Given the description of an element on the screen output the (x, y) to click on. 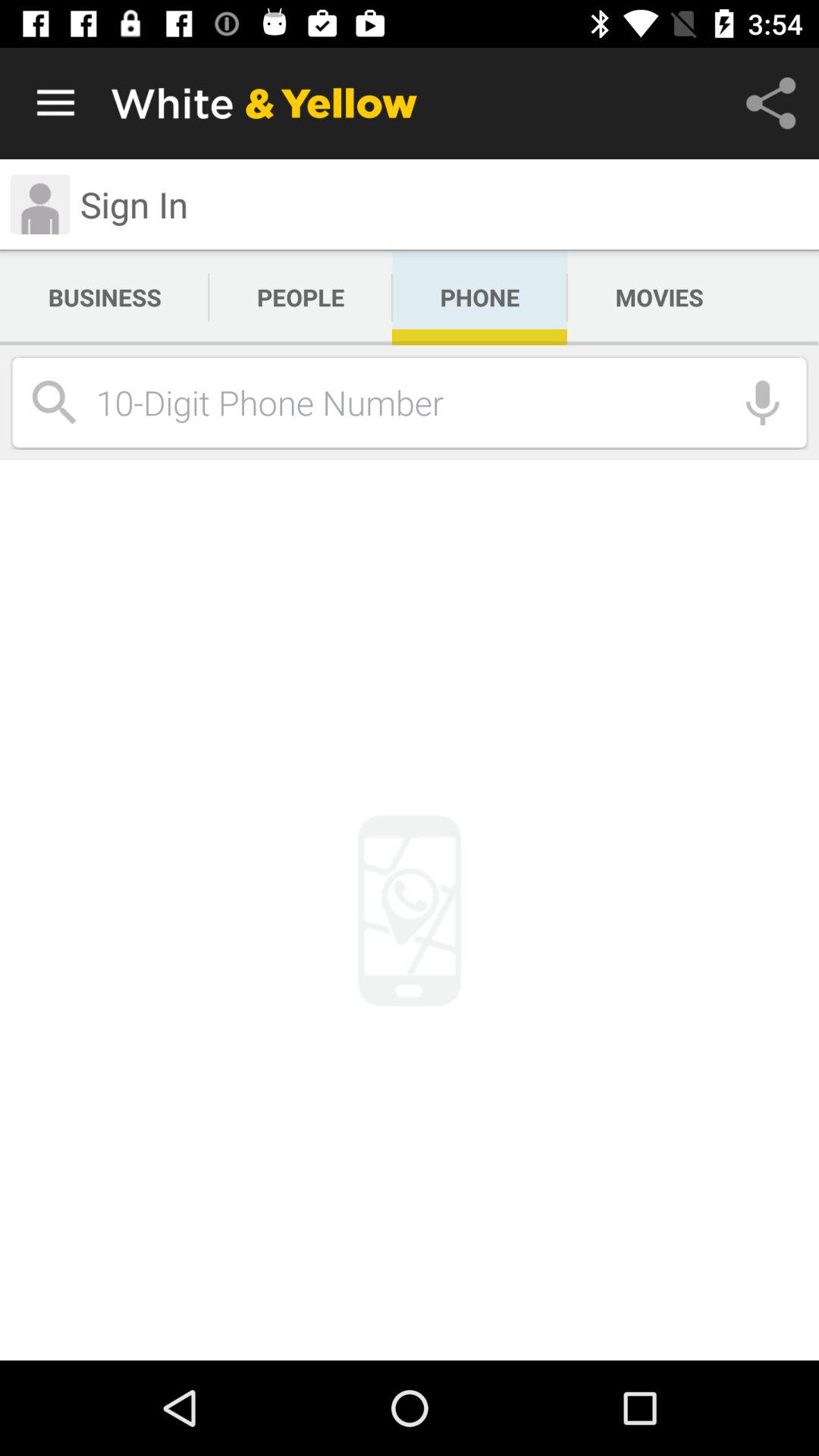
press movies (659, 297)
